Given the description of an element on the screen output the (x, y) to click on. 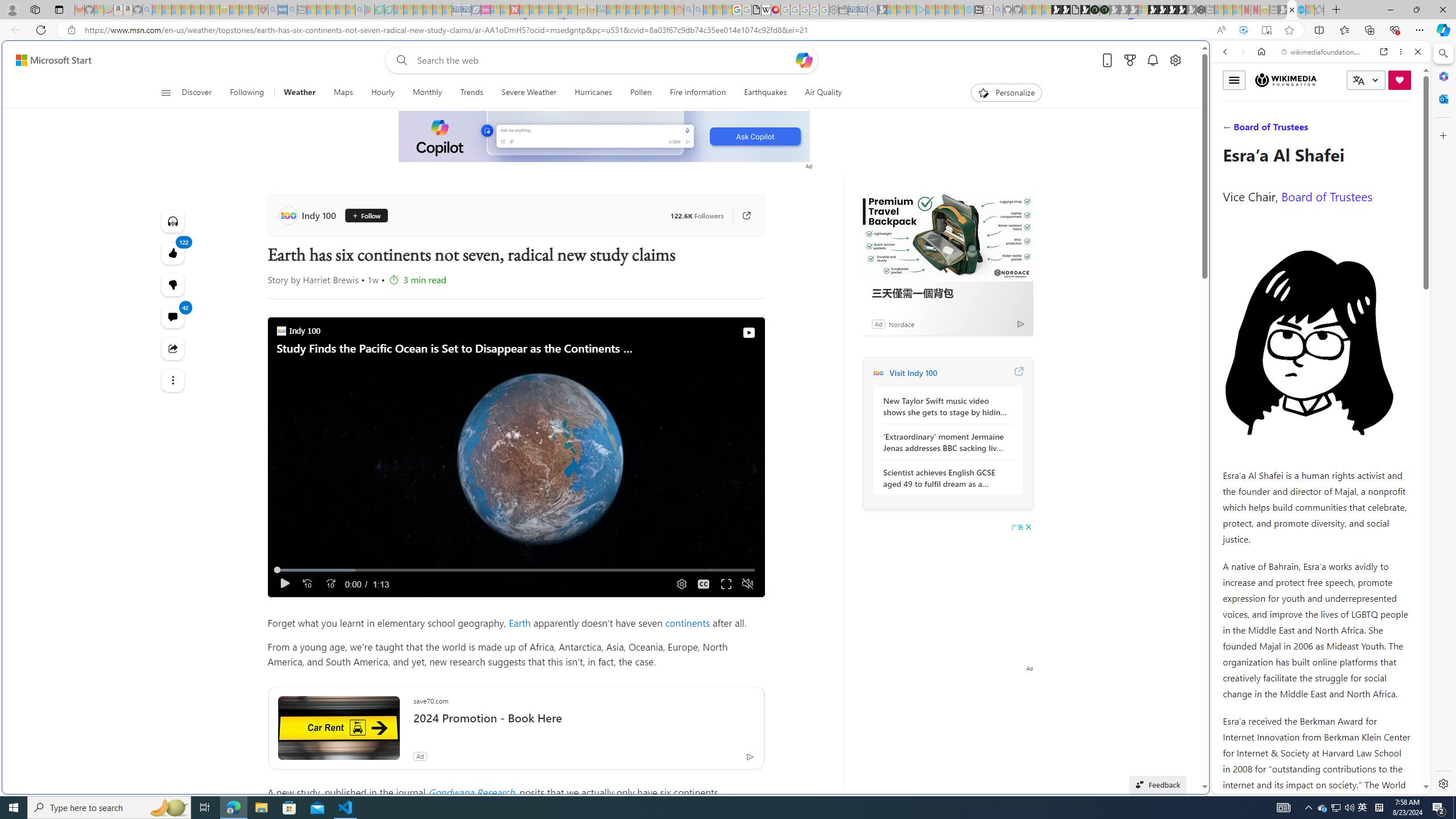
122 Like (172, 252)
Wikimedia Foundation (1286, 79)
Severe Weather (529, 92)
Hurricanes (593, 92)
Earthquakes (765, 92)
Fire information (698, 92)
Visit Indy 100 website (1018, 372)
Air Quality (824, 92)
